Given the description of an element on the screen output the (x, y) to click on. 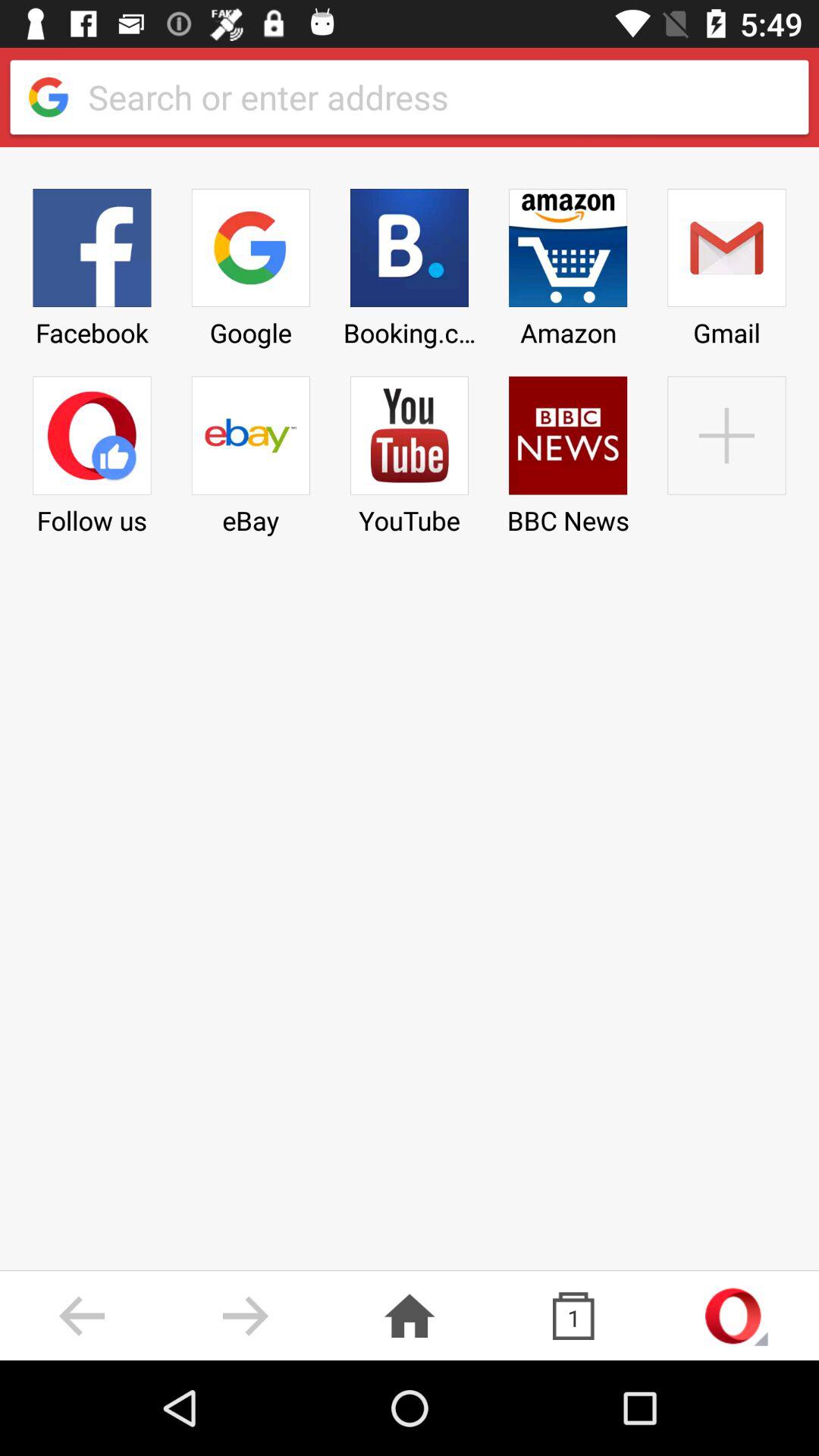
choose item next to amazon (409, 262)
